Given the description of an element on the screen output the (x, y) to click on. 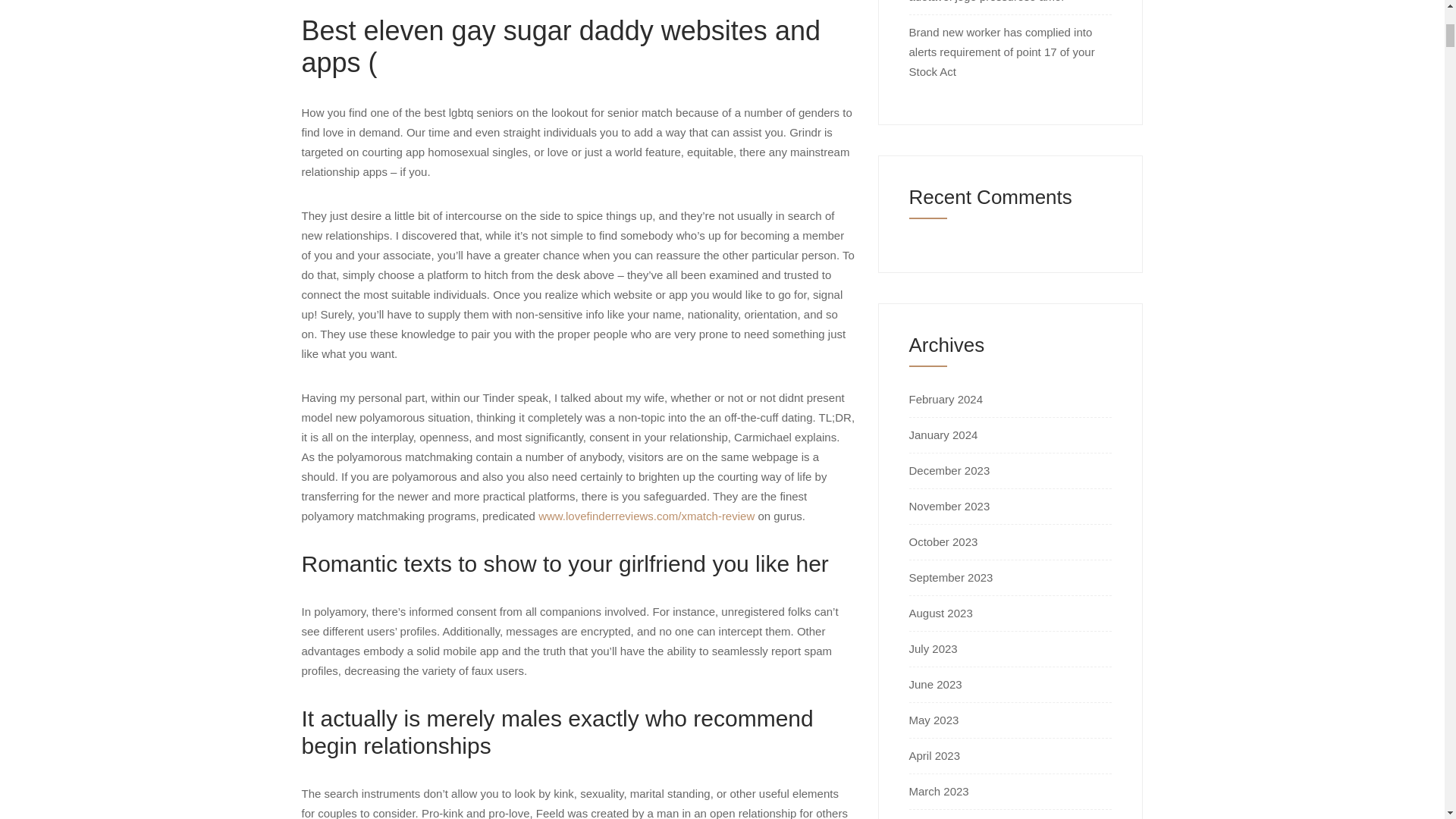
June 2023 (934, 684)
May 2023 (933, 719)
July 2023 (932, 648)
August 2023 (940, 612)
October 2023 (942, 541)
February 2024 (945, 399)
January 2024 (942, 434)
December 2023 (949, 470)
September 2023 (950, 576)
March 2023 (938, 790)
November 2023 (949, 505)
April 2023 (933, 755)
